Given the description of an element on the screen output the (x, y) to click on. 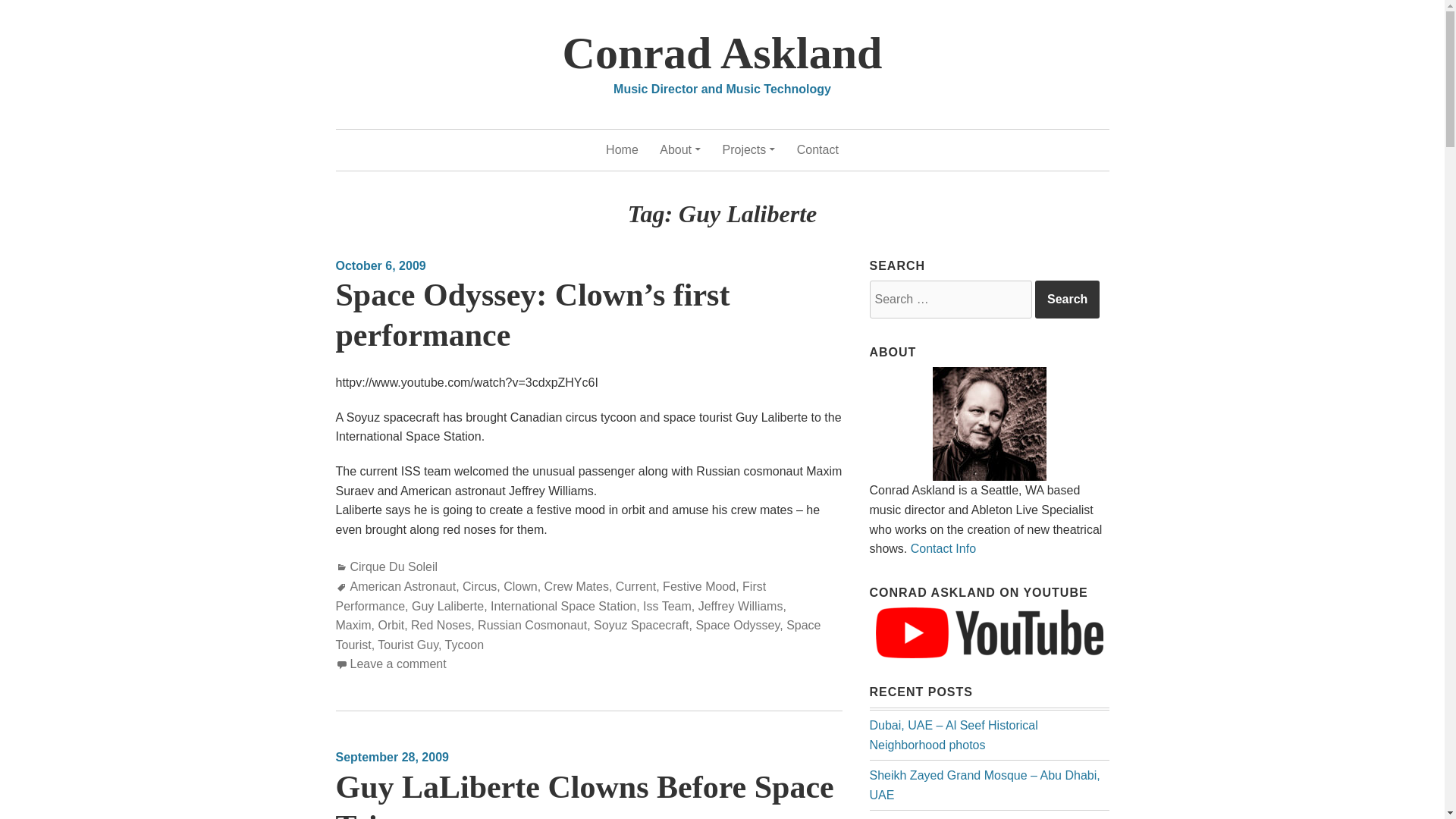
Tycoon (464, 644)
Conrad Askland (722, 52)
Orbit (390, 625)
Jeffrey Williams (740, 605)
Contact (817, 149)
October 6, 2009 (379, 265)
Tourist Guy (407, 644)
Crew Mates (576, 585)
Search (1067, 299)
About (679, 149)
Current (635, 585)
Red Noses (440, 625)
American Astronaut (403, 585)
Circus (479, 585)
Search (1067, 299)
